Given the description of an element on the screen output the (x, y) to click on. 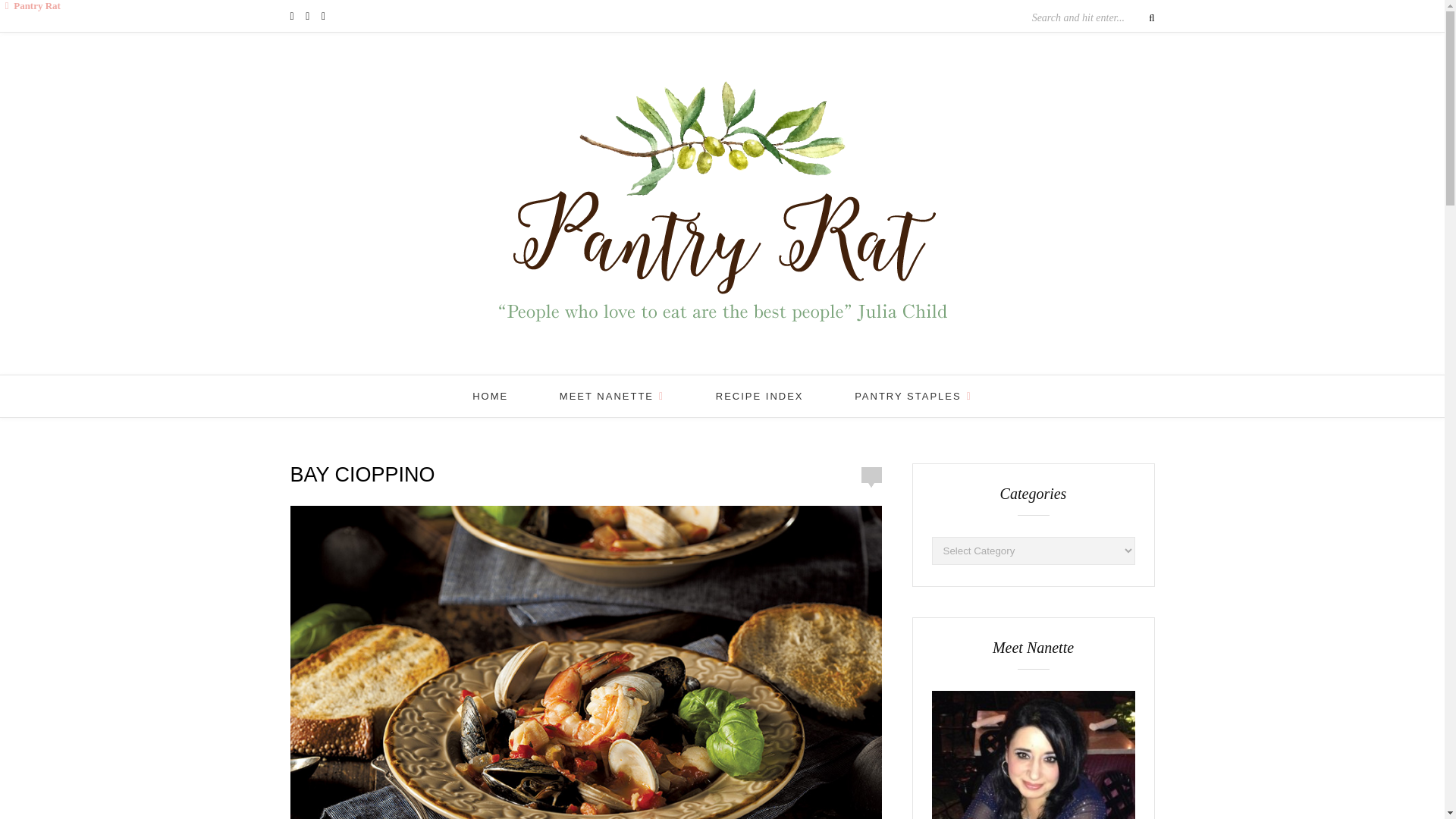
MEET NANETTE (611, 395)
PANTRY STAPLES (913, 395)
RECIPE INDEX (759, 395)
